Given the description of an element on the screen output the (x, y) to click on. 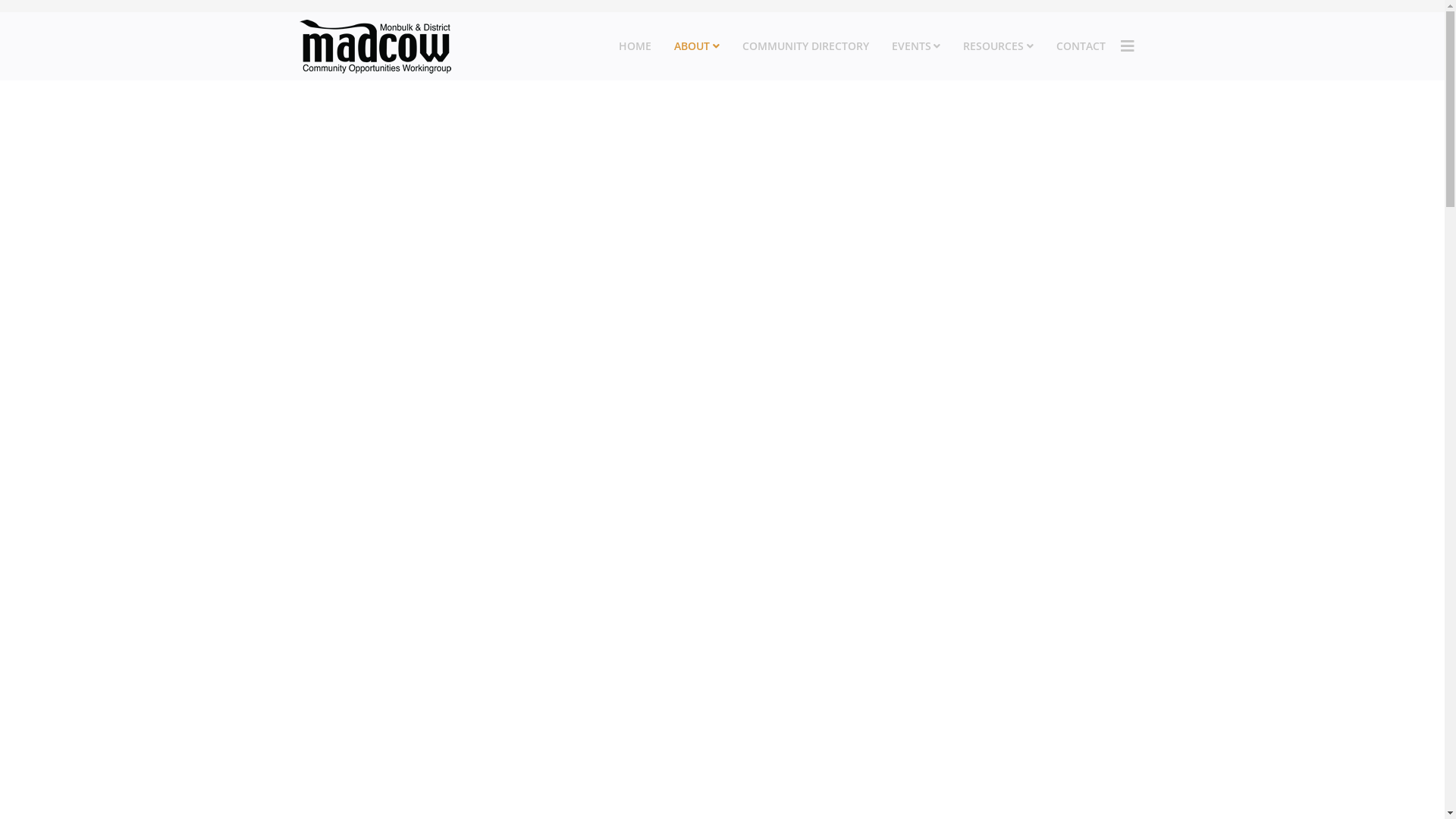
EVENTS Element type: text (915, 46)
RESOURCES Element type: text (997, 46)
COMMUNITY DIRECTORY Element type: text (805, 46)
HOME Element type: text (634, 46)
CONTACT Element type: text (1080, 46)
ABOUT Element type: text (696, 46)
Helix3 Megamenu Options Element type: hover (1127, 45)
